Given the description of an element on the screen output the (x, y) to click on. 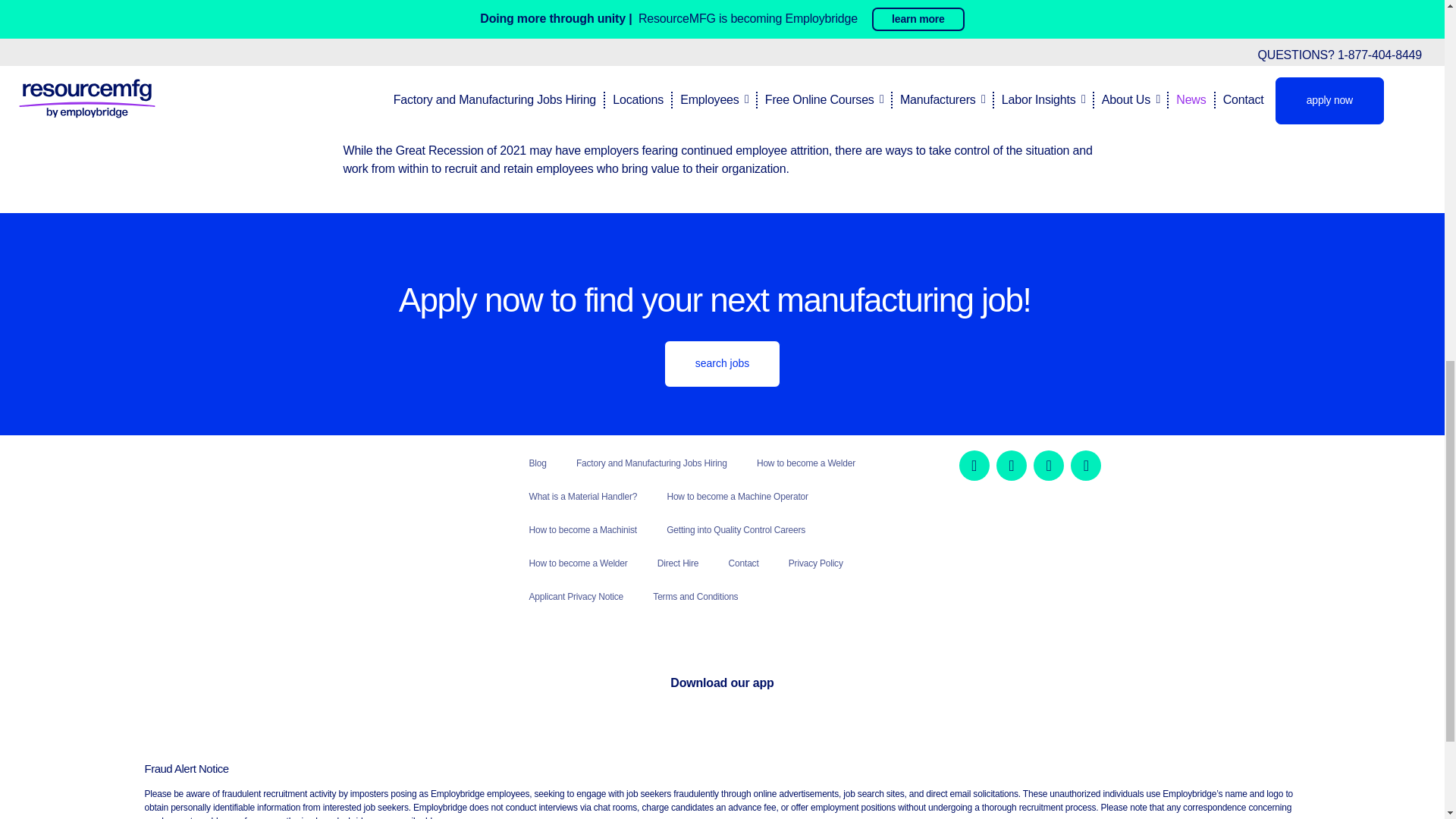
search jobs (721, 363)
Factory and Manufacturing Jobs Hiring (651, 462)
How to become a Welder (806, 462)
Blog (538, 462)
